Given the description of an element on the screen output the (x, y) to click on. 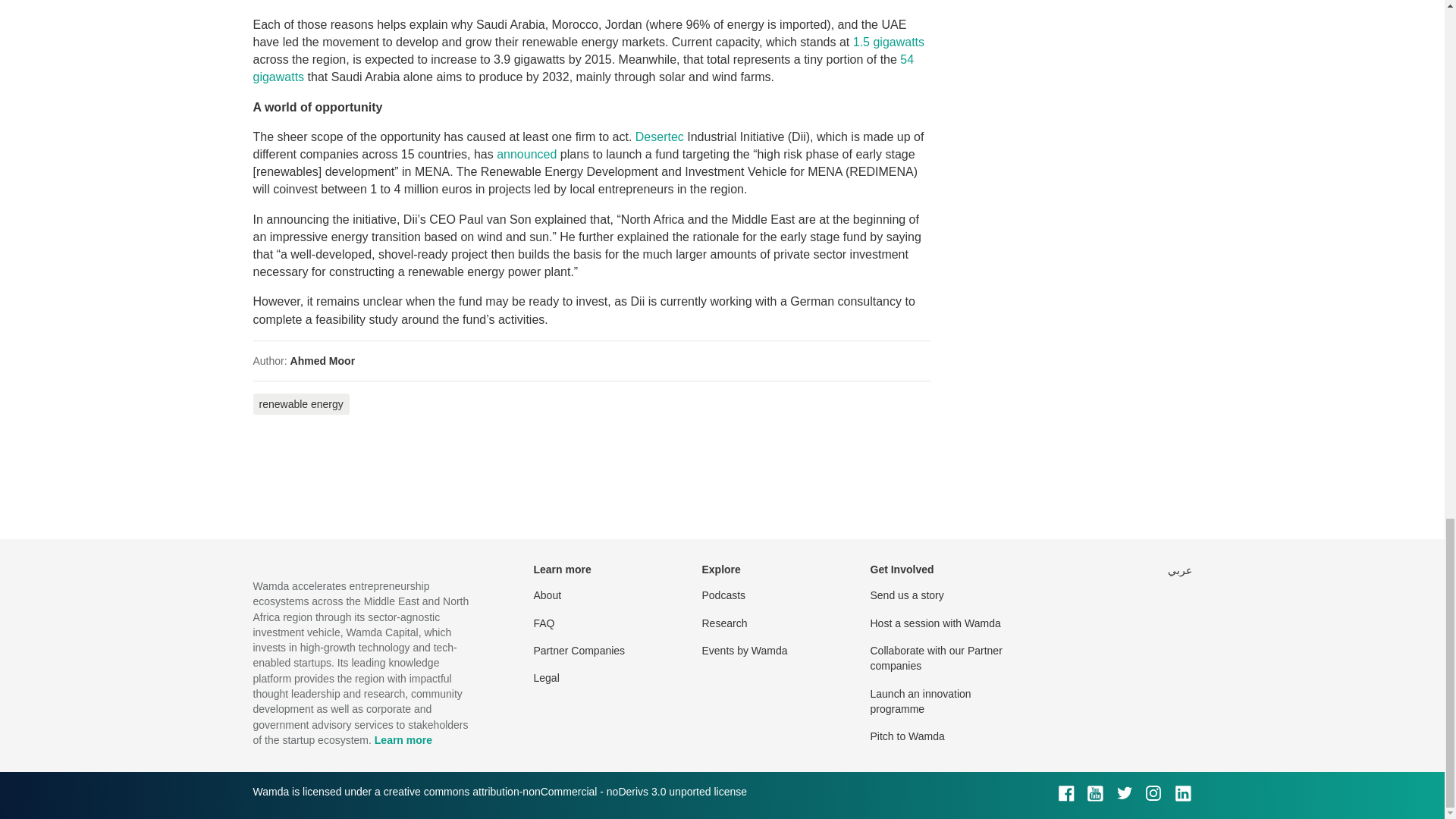
FAQ (544, 623)
Desertec (659, 136)
Instagram (1152, 792)
Facebook (1066, 792)
Legal (546, 677)
Learn more (403, 739)
54 gigawatts (583, 68)
Partner Companies (580, 650)
1.5 gigawatts (888, 42)
Ahmed Moor (322, 360)
